Given the description of an element on the screen output the (x, y) to click on. 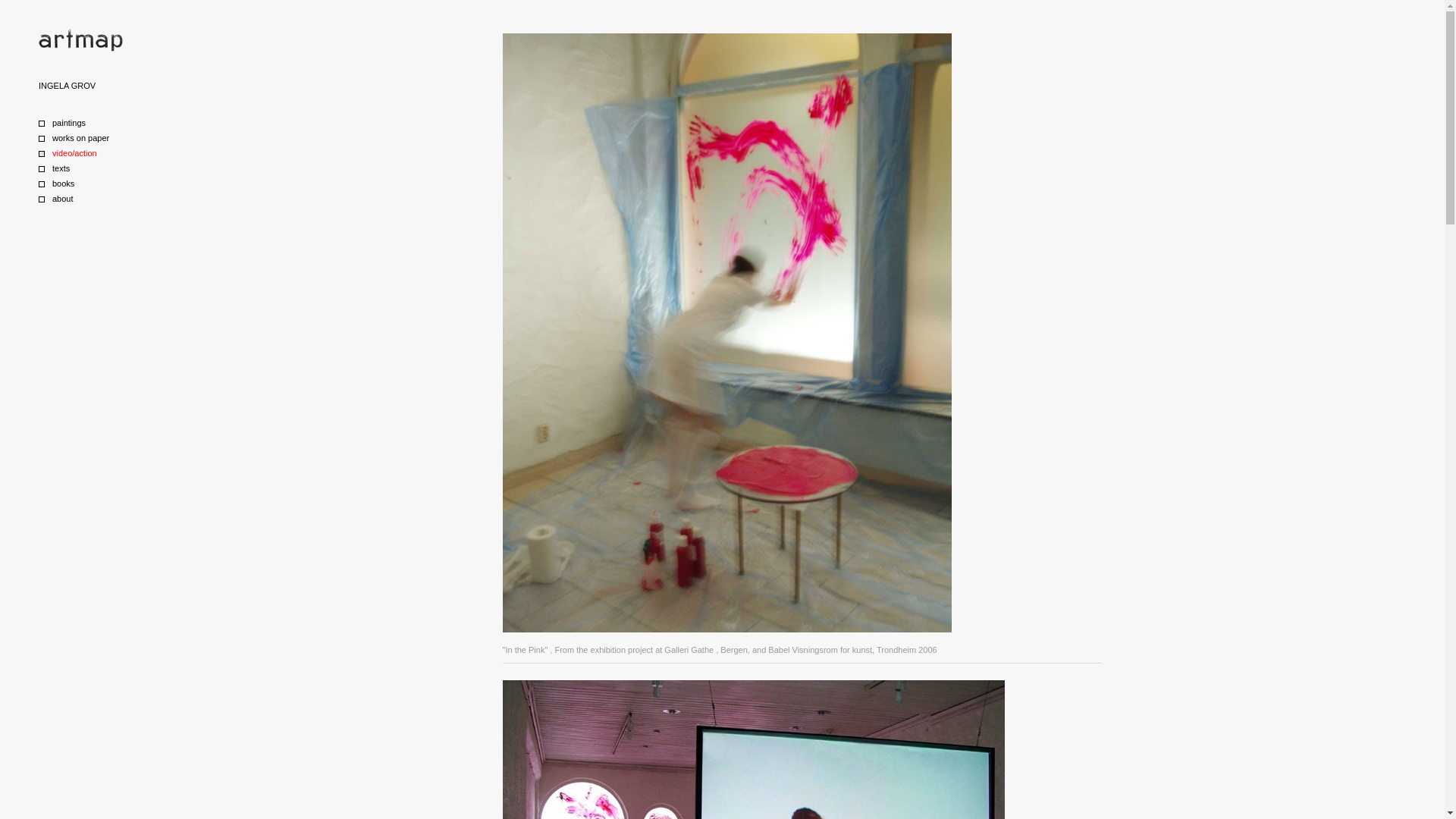
about (95, 198)
paintings (95, 122)
books (95, 183)
texts (95, 168)
works on paper (95, 138)
